Given the description of an element on the screen output the (x, y) to click on. 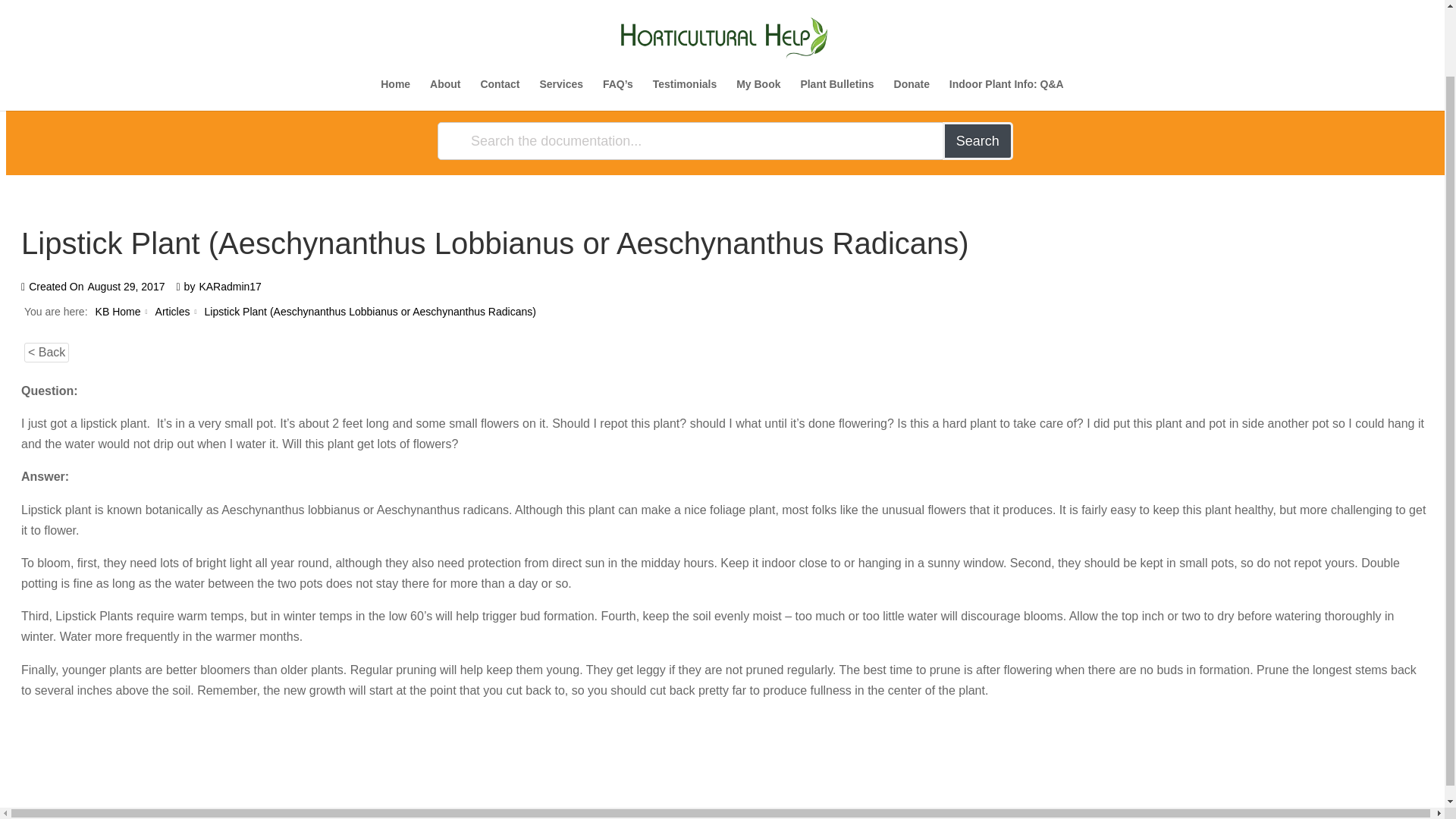
Search (977, 140)
Services (560, 20)
Plant Bulletins (836, 20)
Donate (911, 20)
About (444, 20)
Testimonials (684, 20)
Home (395, 20)
KB Home (118, 311)
Articles (172, 311)
Contact (499, 20)
My Book (758, 20)
